Given the description of an element on the screen output the (x, y) to click on. 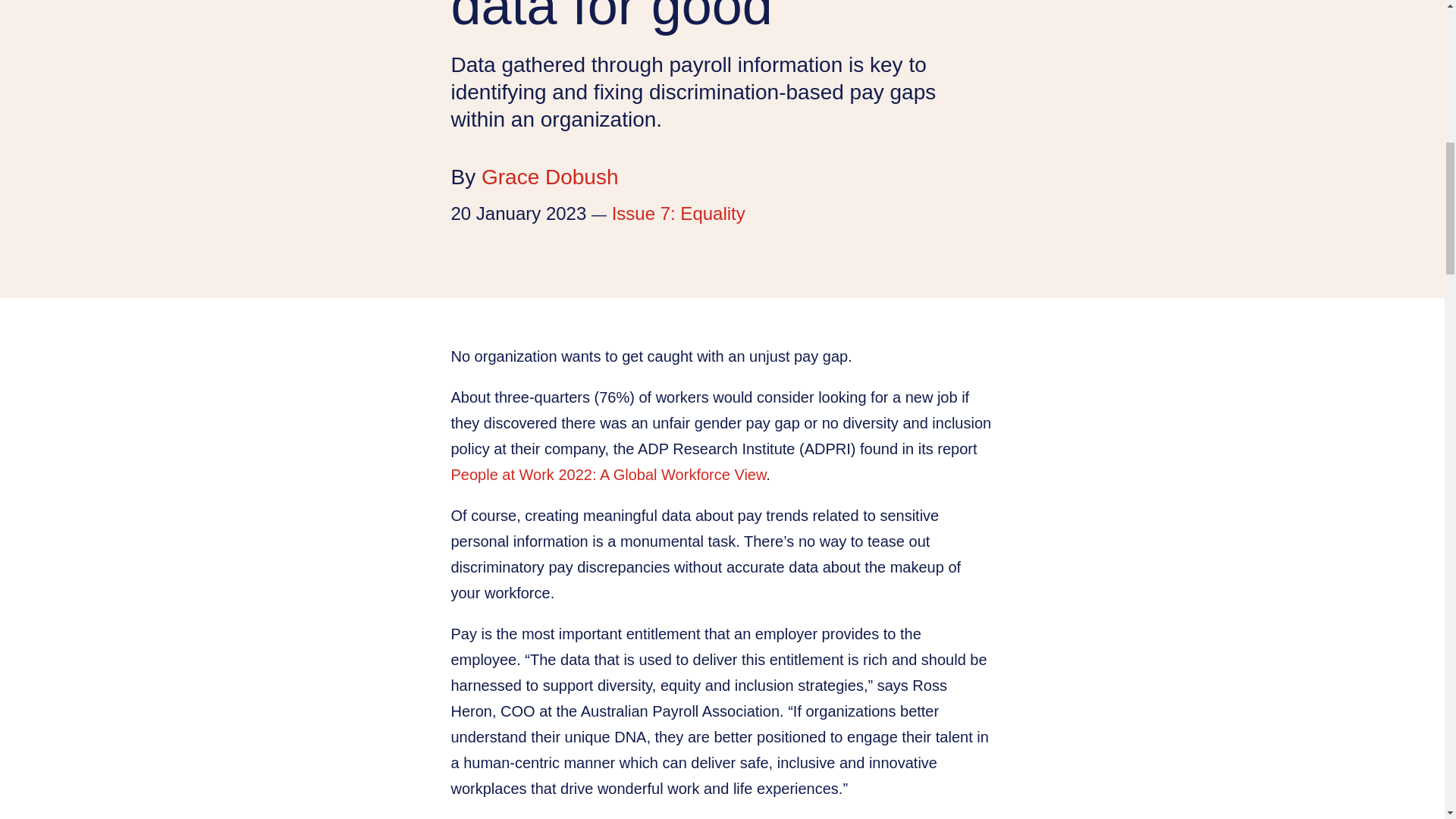
People at Work 2022: A Global Workforce View (607, 474)
Issue 7: Equality (678, 213)
Grace Dobush (549, 177)
